Given the description of an element on the screen output the (x, y) to click on. 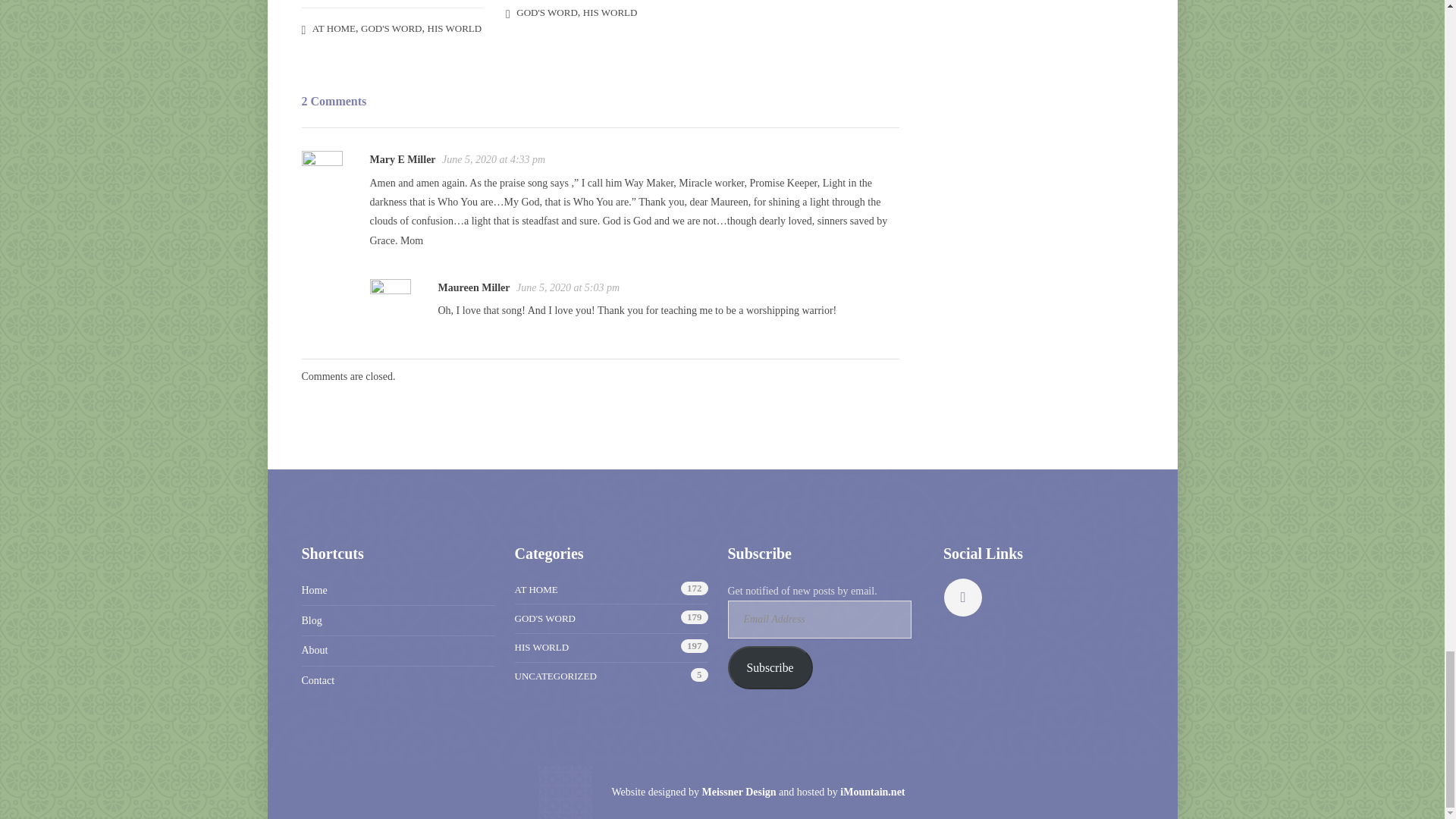
AT HOME (334, 28)
